Given the description of an element on the screen output the (x, y) to click on. 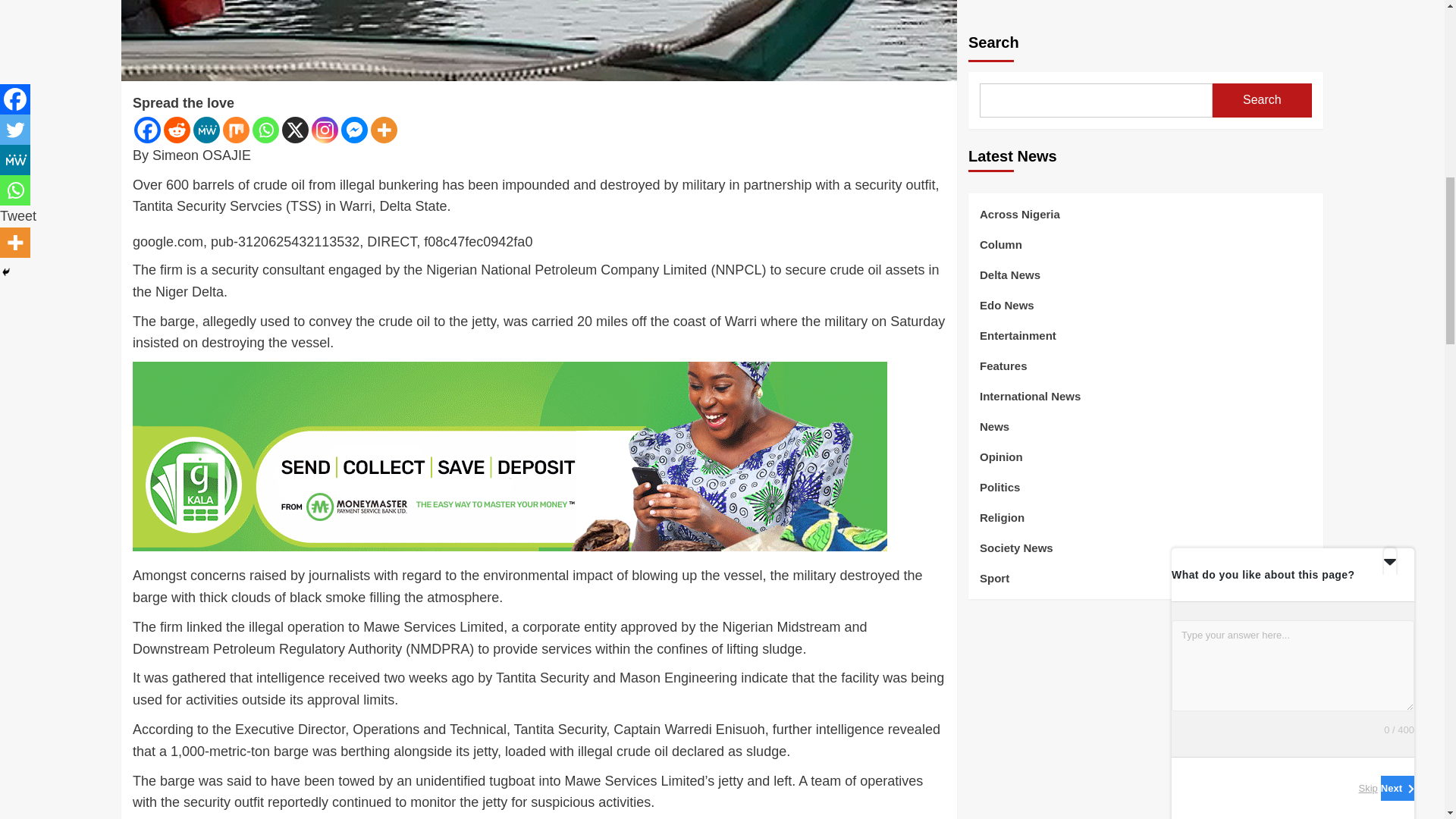
X (295, 130)
Mix (235, 130)
Instagram (324, 130)
More (384, 130)
Whatsapp (265, 130)
MeWe (206, 130)
Reddit (176, 130)
Facebook (146, 130)
